Given the description of an element on the screen output the (x, y) to click on. 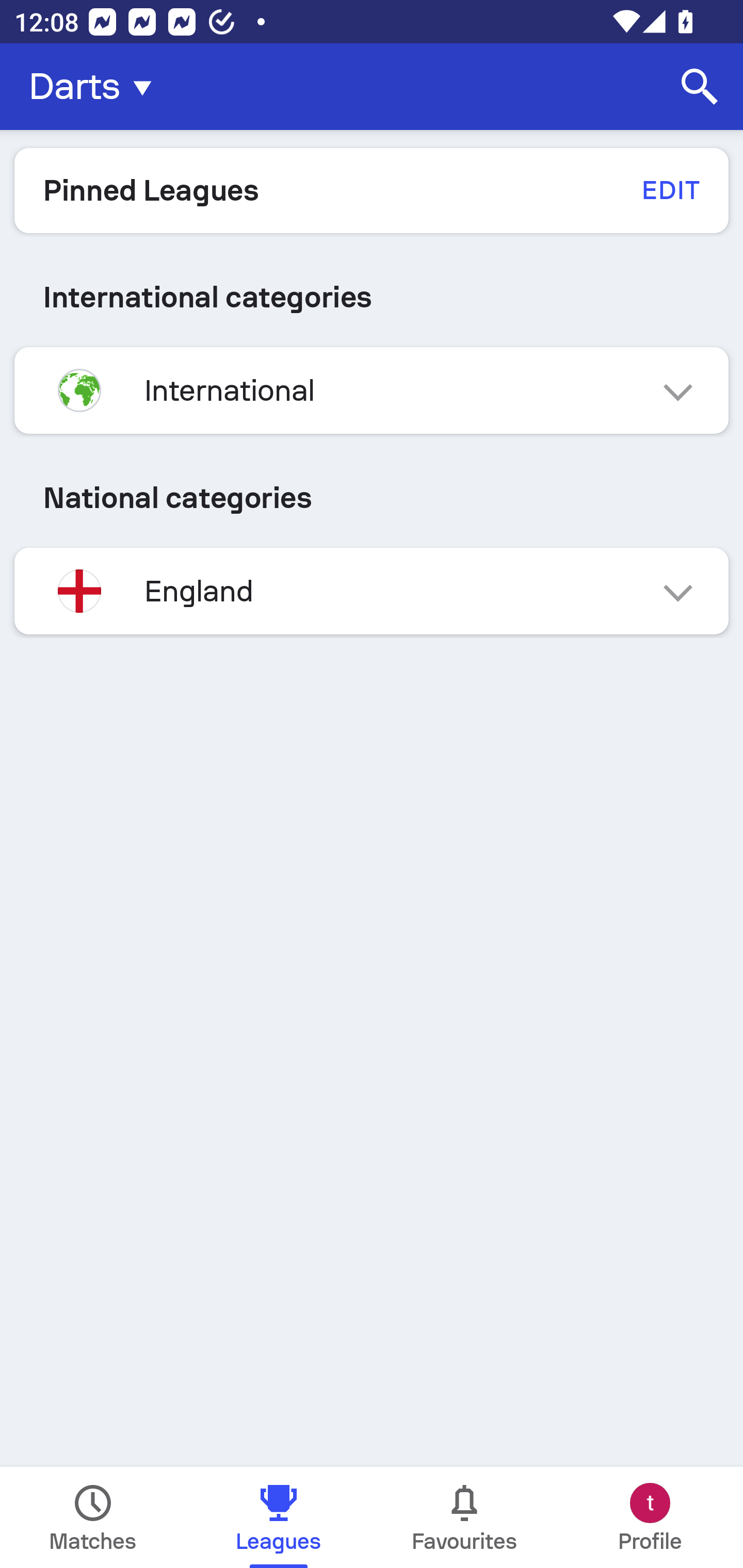
Darts (96, 86)
Search (699, 86)
Pinned Leagues EDIT (371, 190)
EDIT (670, 190)
International categories (371, 296)
International (371, 390)
National categories (371, 497)
England (371, 591)
Matches (92, 1517)
Favourites (464, 1517)
Profile (650, 1517)
